Given the description of an element on the screen output the (x, y) to click on. 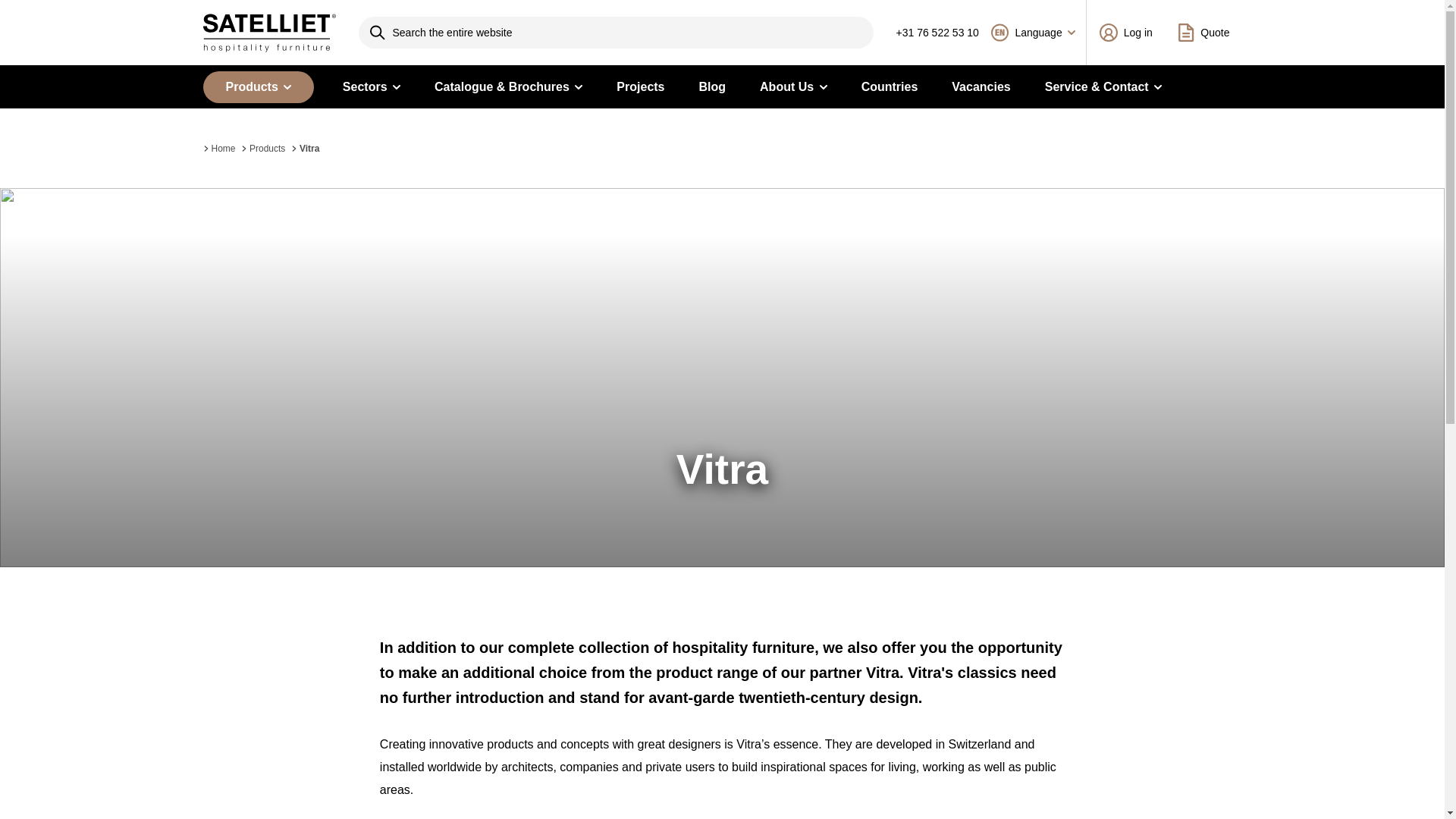
Language (1033, 32)
Log in (1126, 32)
Go to (219, 147)
Satelliet (269, 32)
Quote (1203, 32)
Go to Products (263, 147)
